Given the description of an element on the screen output the (x, y) to click on. 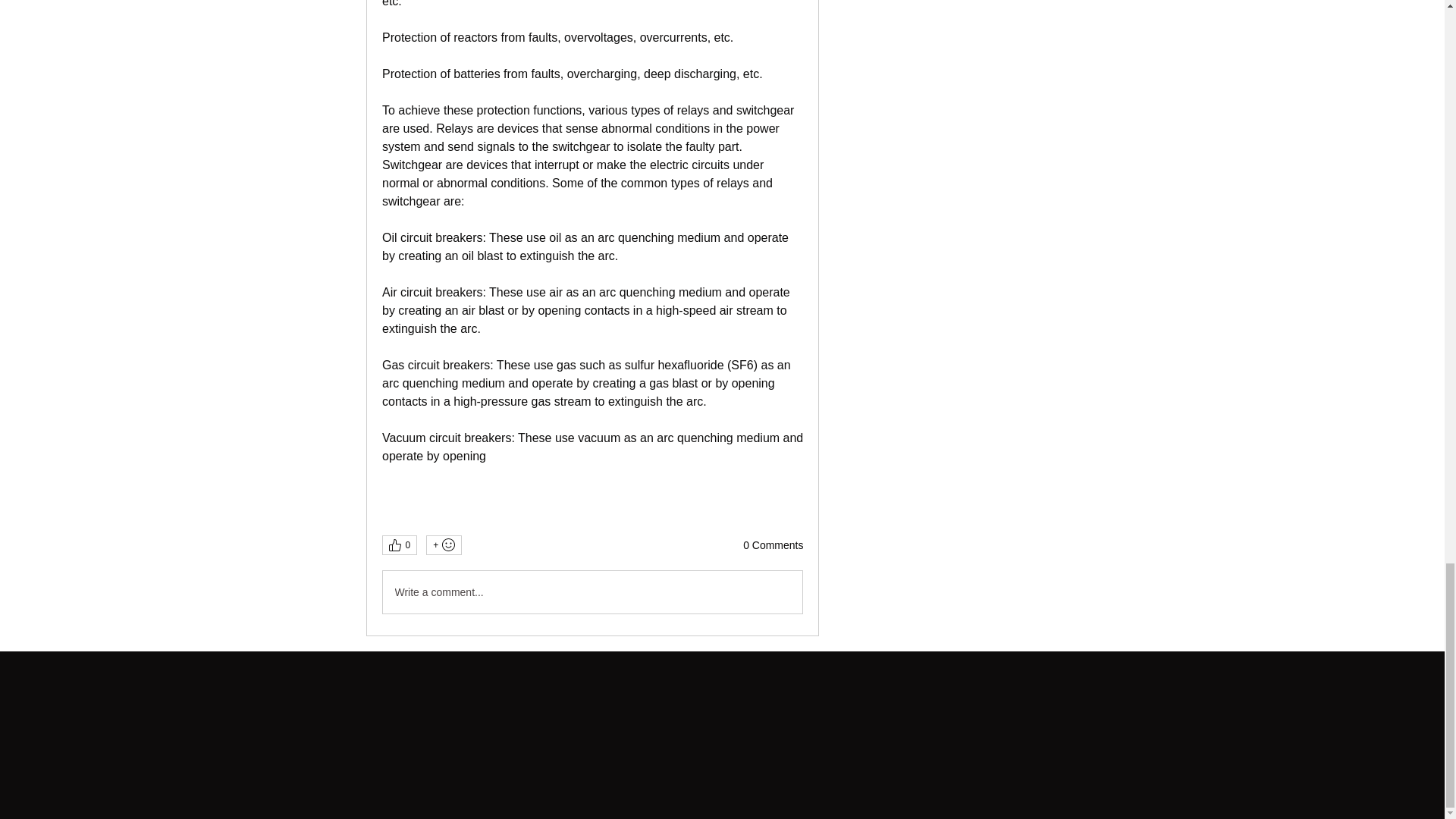
0 Comments (772, 545)
Write a comment... (591, 591)
